Given the description of an element on the screen output the (x, y) to click on. 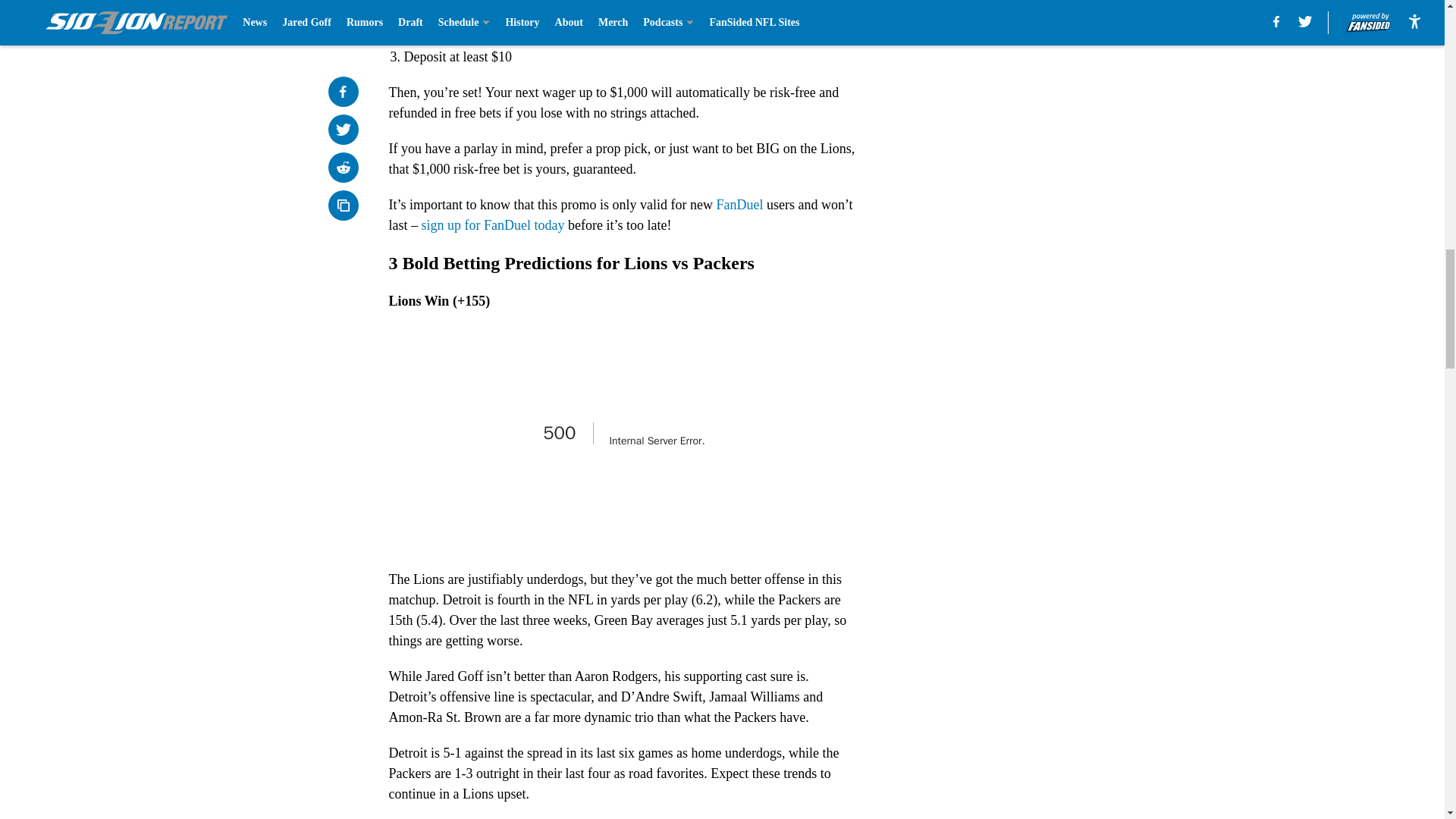
FanDuel (739, 204)
Sign up for FanDuel with this link (497, 15)
sign up for FanDuel today (493, 224)
